Given the description of an element on the screen output the (x, y) to click on. 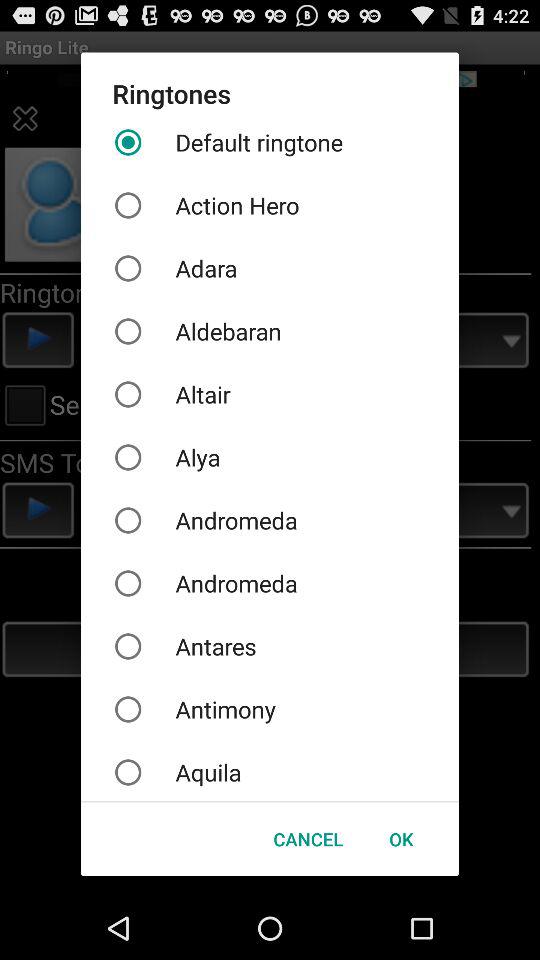
turn on item next to cancel (401, 838)
